Given the description of an element on the screen output the (x, y) to click on. 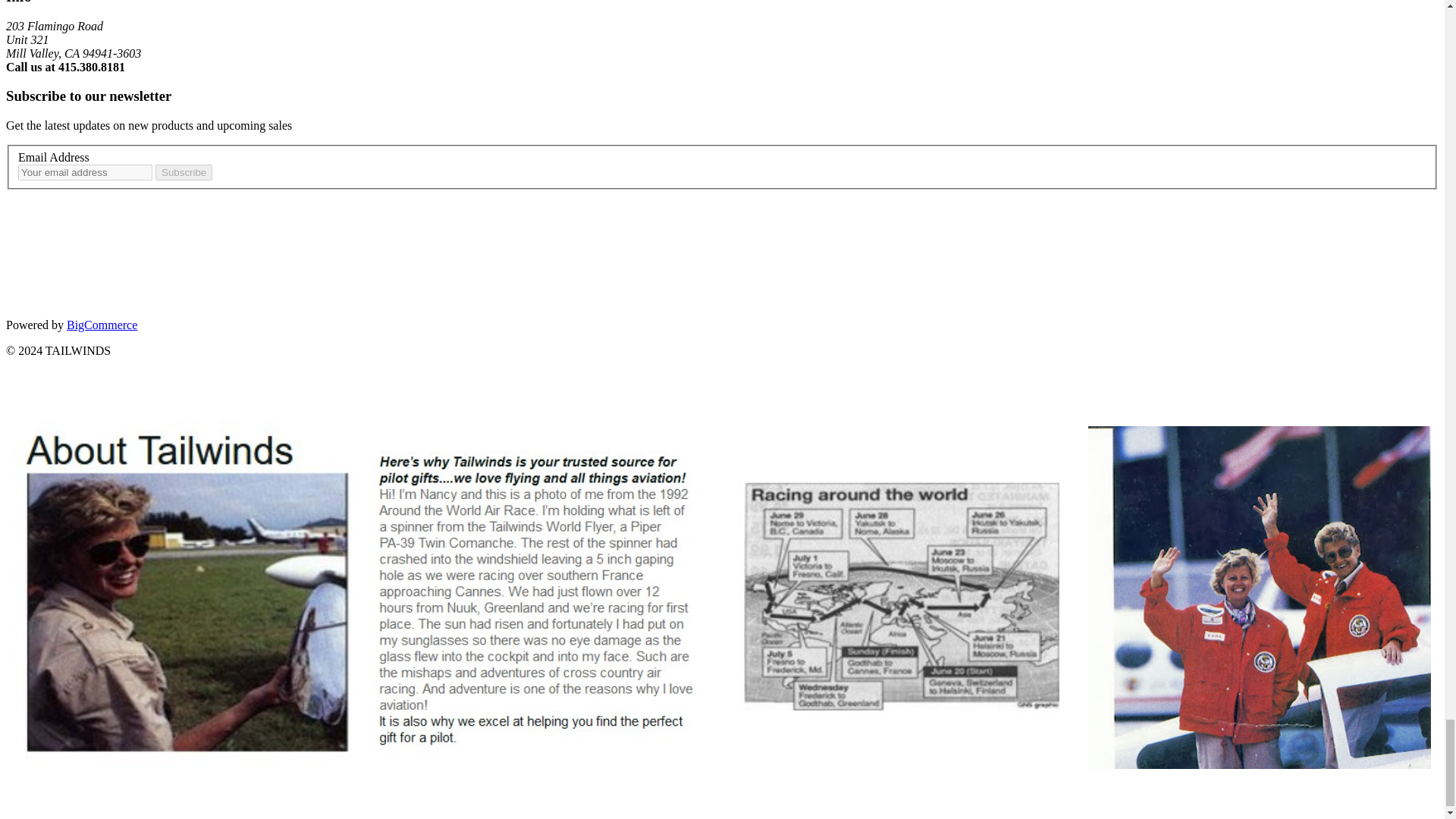
Subscribe (183, 172)
